Given the description of an element on the screen output the (x, y) to click on. 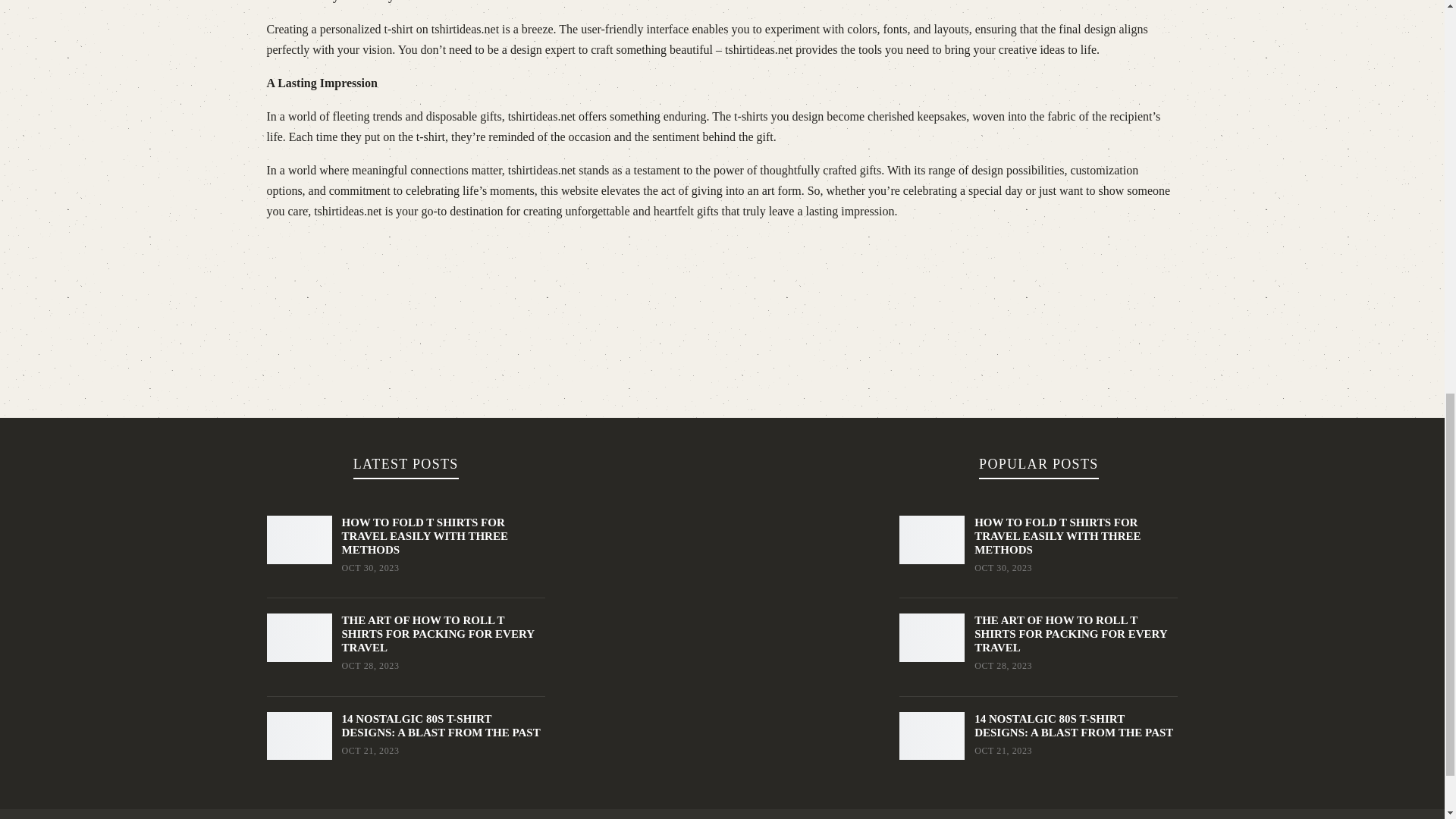
HOW TO FOLD T SHIRTS FOR TRAVEL EASILY WITH THREE METHODS (1057, 536)
THE ART OF HOW TO ROLL T SHIRTS FOR PACKING FOR EVERY TRAVEL (437, 633)
HOW TO FOLD T SHIRTS FOR TRAVEL EASILY WITH THREE METHODS (423, 536)
The Art of How to Roll T Shirts for Packing for Every Travel (931, 637)
The Art of How to Roll T Shirts for Packing for Every Travel (298, 637)
14 NOSTALGIC 80S T-SHIRT DESIGNS: A BLAST FROM THE PAST (1073, 725)
14 Nostalgic 80s T-Shirt Designs: A Blast from The Past (298, 735)
14 NOSTALGIC 80S T-SHIRT DESIGNS: A BLAST FROM THE PAST (440, 725)
How to Fold T shirts for Travel Easily with Three Methods (298, 539)
THE ART OF HOW TO ROLL T SHIRTS FOR PACKING FOR EVERY TRAVEL (1070, 633)
